Given the description of an element on the screen output the (x, y) to click on. 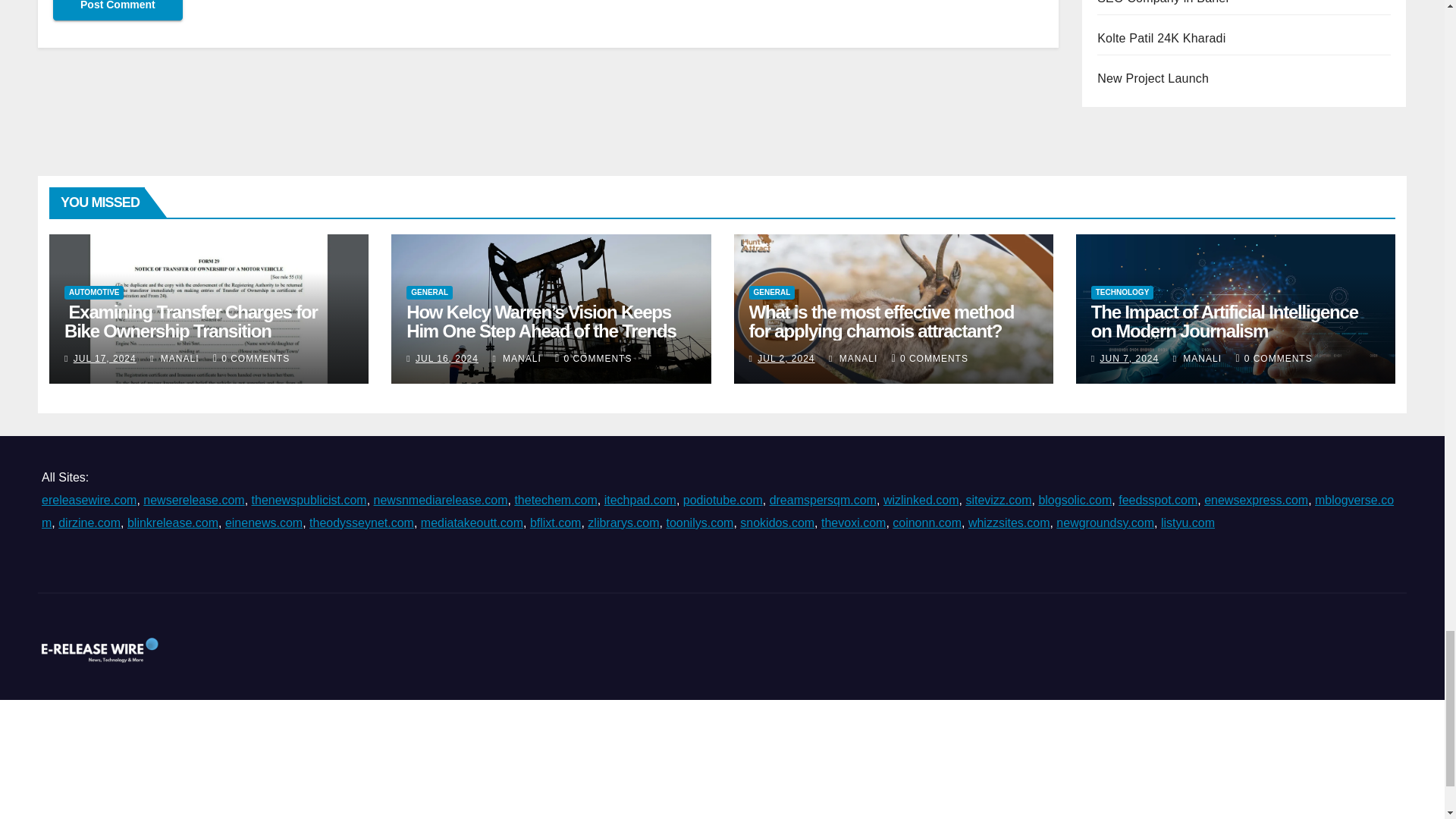
Post Comment (117, 10)
